Given the description of an element on the screen output the (x, y) to click on. 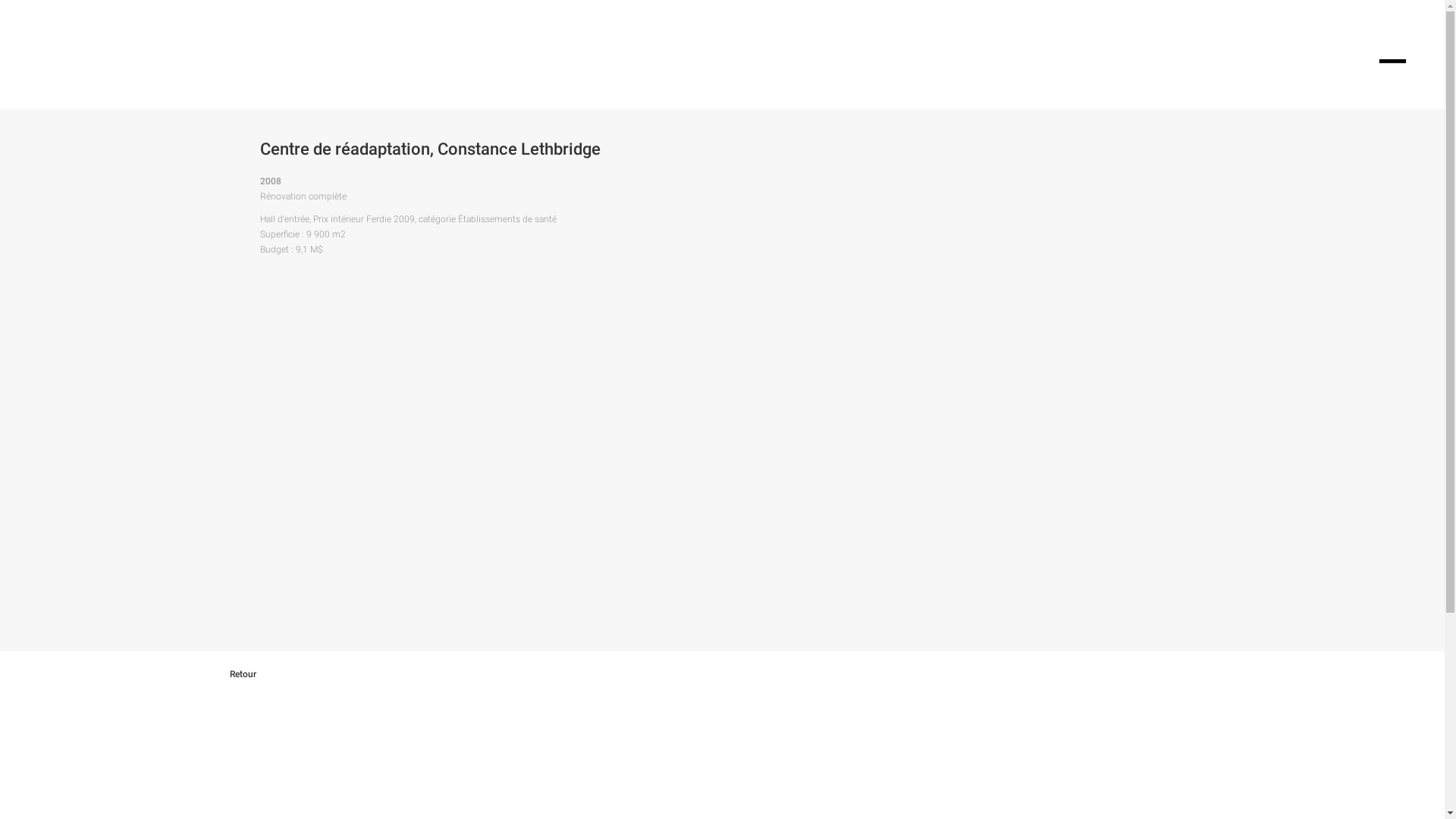
Retour Element type: text (255, 673)
